Given the description of an element on the screen output the (x, y) to click on. 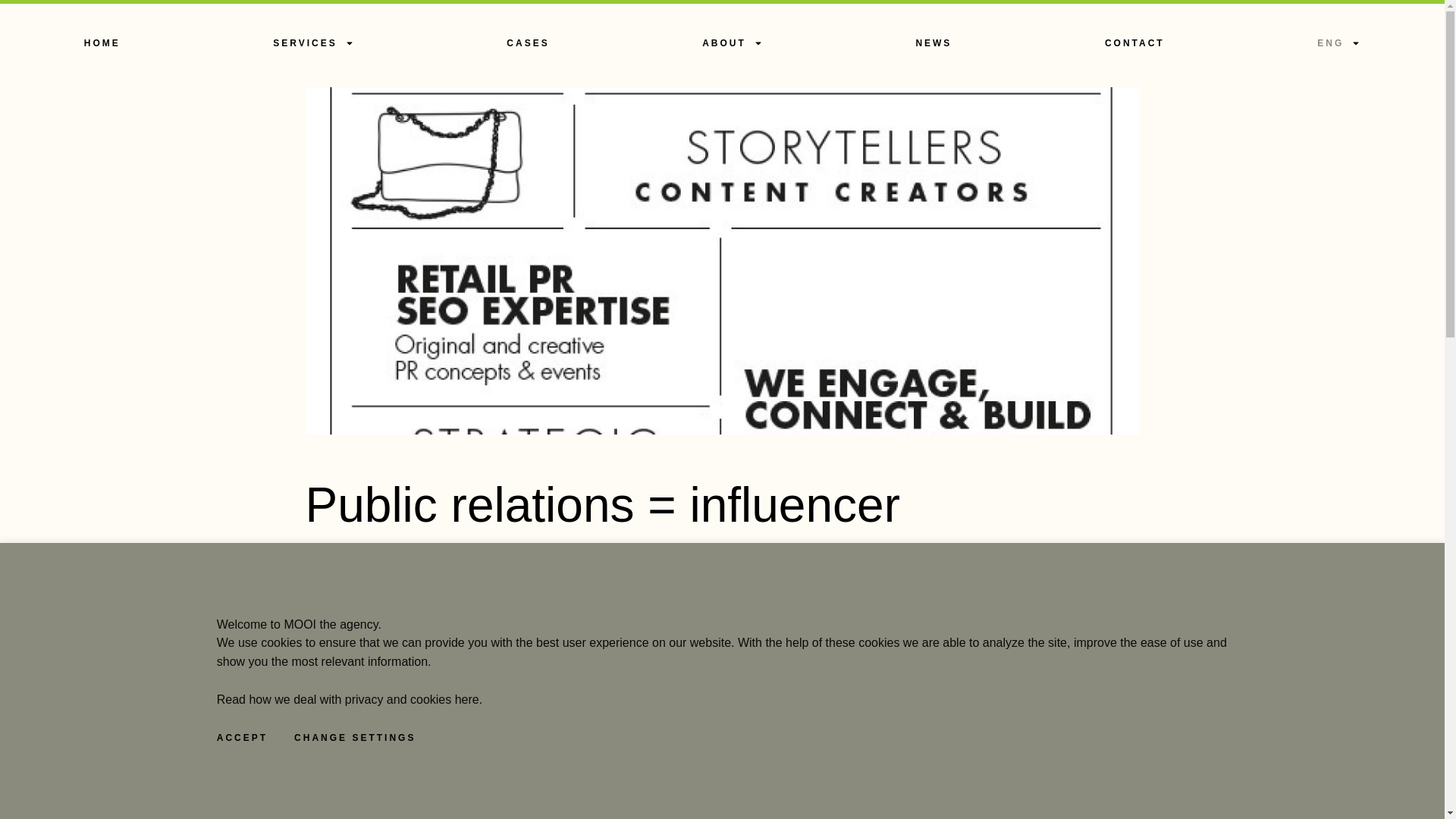
SERVICES (313, 42)
CASES (528, 42)
ENG (1338, 42)
ENG (1338, 42)
NEWS (934, 42)
HOME (101, 42)
ABOUT (732, 42)
CONTACT (1133, 42)
